Given the description of an element on the screen output the (x, y) to click on. 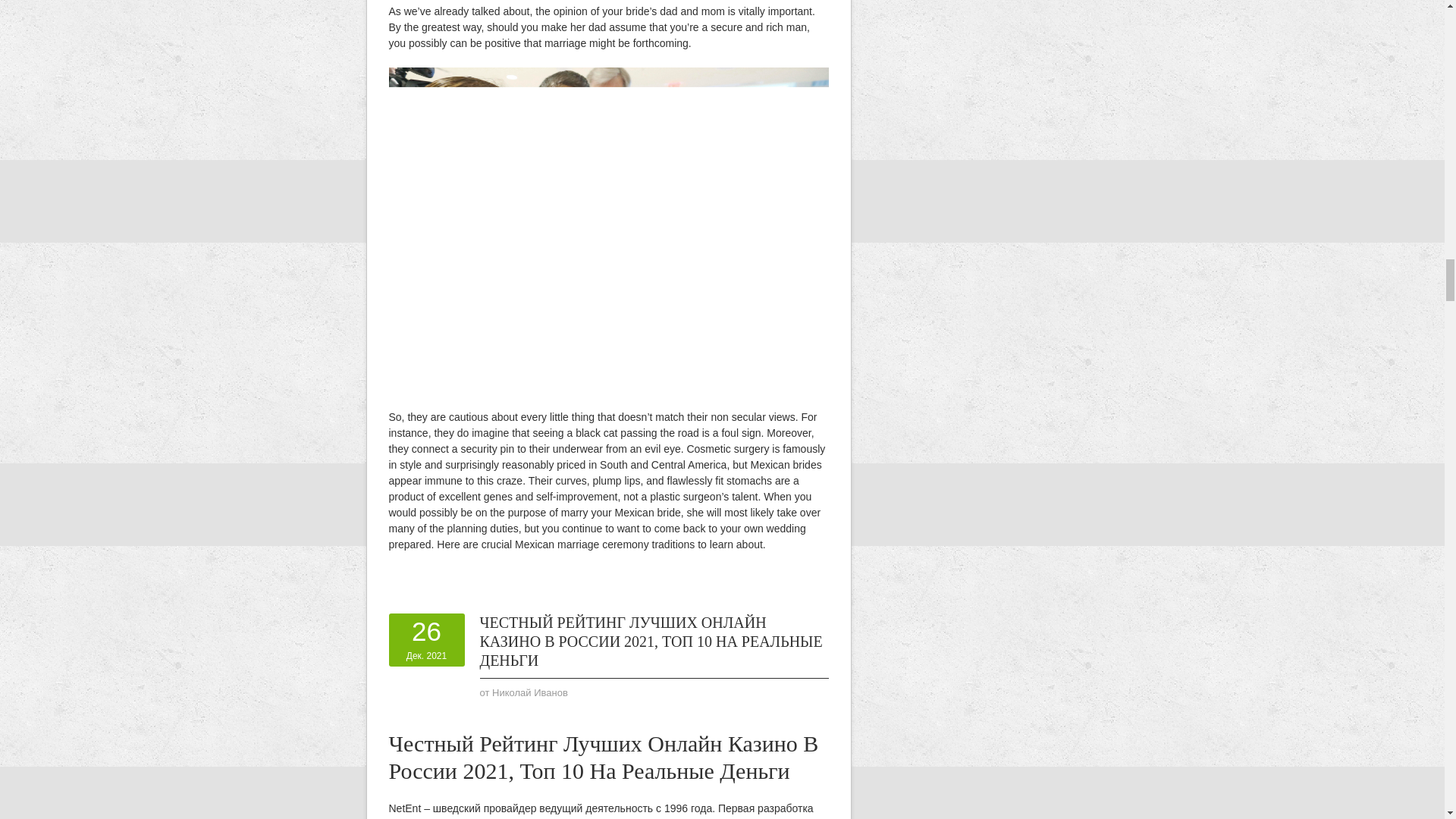
26.12.2021 22:09 (426, 639)
